Given the description of an element on the screen output the (x, y) to click on. 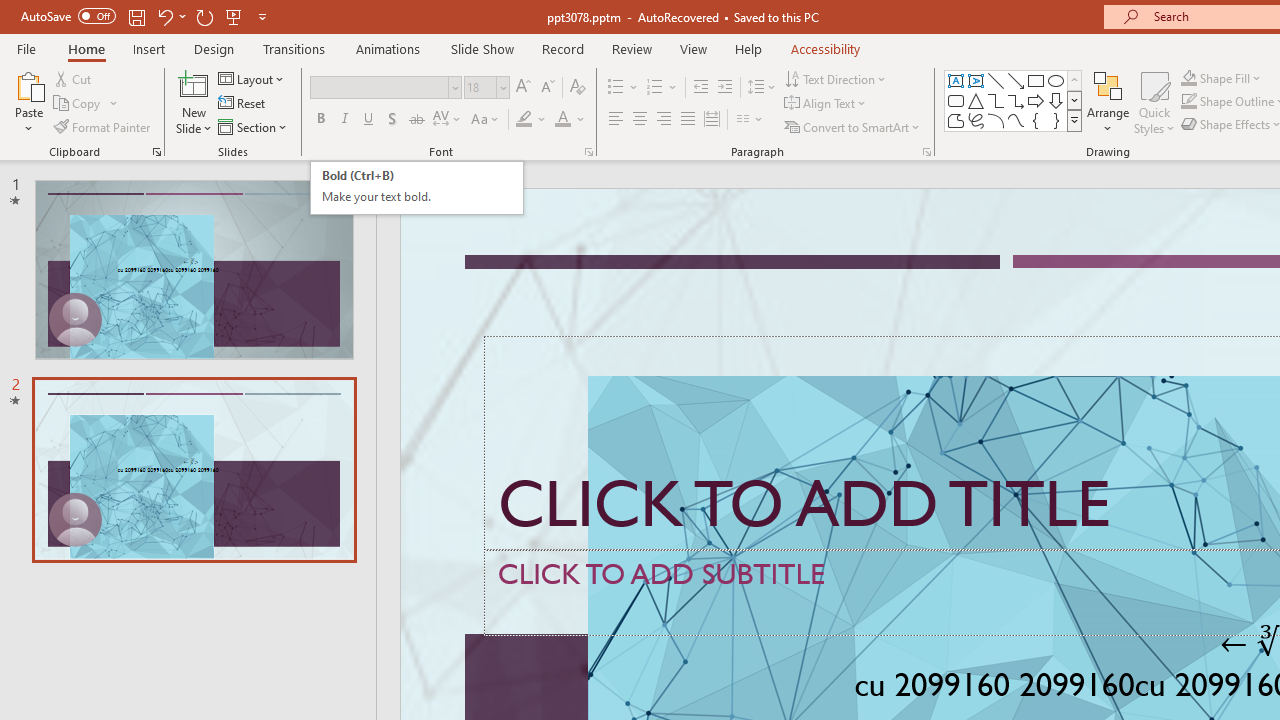
AutomationID: ShapesInsertGallery (416, 188)
Right Brace (1014, 100)
Rectangle: Rounded Corners (1055, 120)
Insert (955, 100)
Isosceles Triangle (149, 48)
Transitions (975, 100)
Redo (294, 48)
New Slide (204, 15)
Arc (193, 84)
Bullets (995, 120)
Line (623, 87)
Underline (995, 80)
Bold (369, 119)
From Beginning (320, 119)
